Given the description of an element on the screen output the (x, y) to click on. 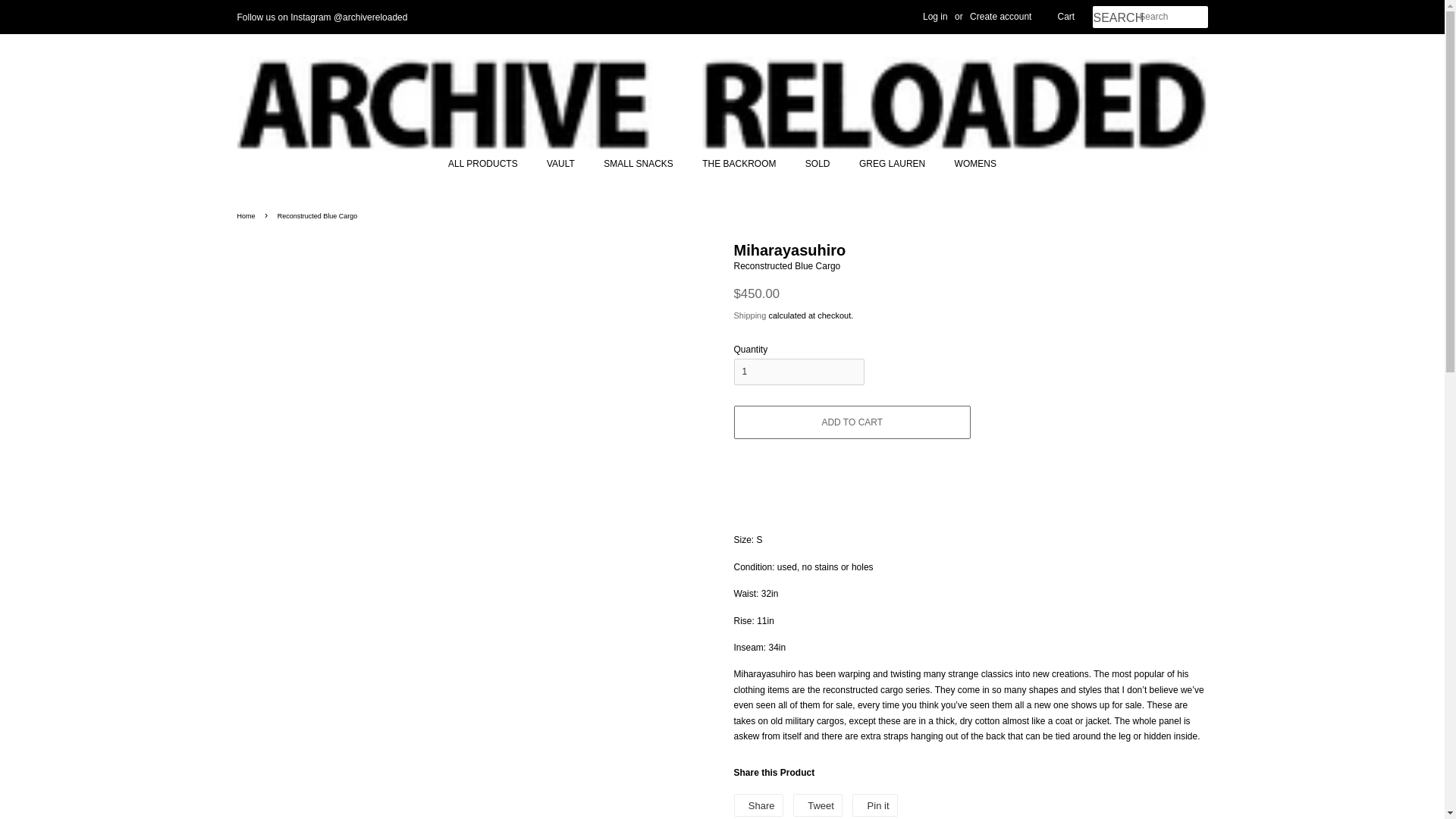
VAULT (562, 163)
THE BACKROOM (818, 804)
Log in (740, 163)
Tweet on Twitter (935, 16)
Pin on Pinterest (818, 804)
WOMENS (873, 804)
Home (873, 804)
Back to the frontpage (969, 163)
SEARCH (247, 216)
ALL PRODUCTS (247, 216)
Shipping (1115, 18)
Cart (490, 163)
